Given the description of an element on the screen output the (x, y) to click on. 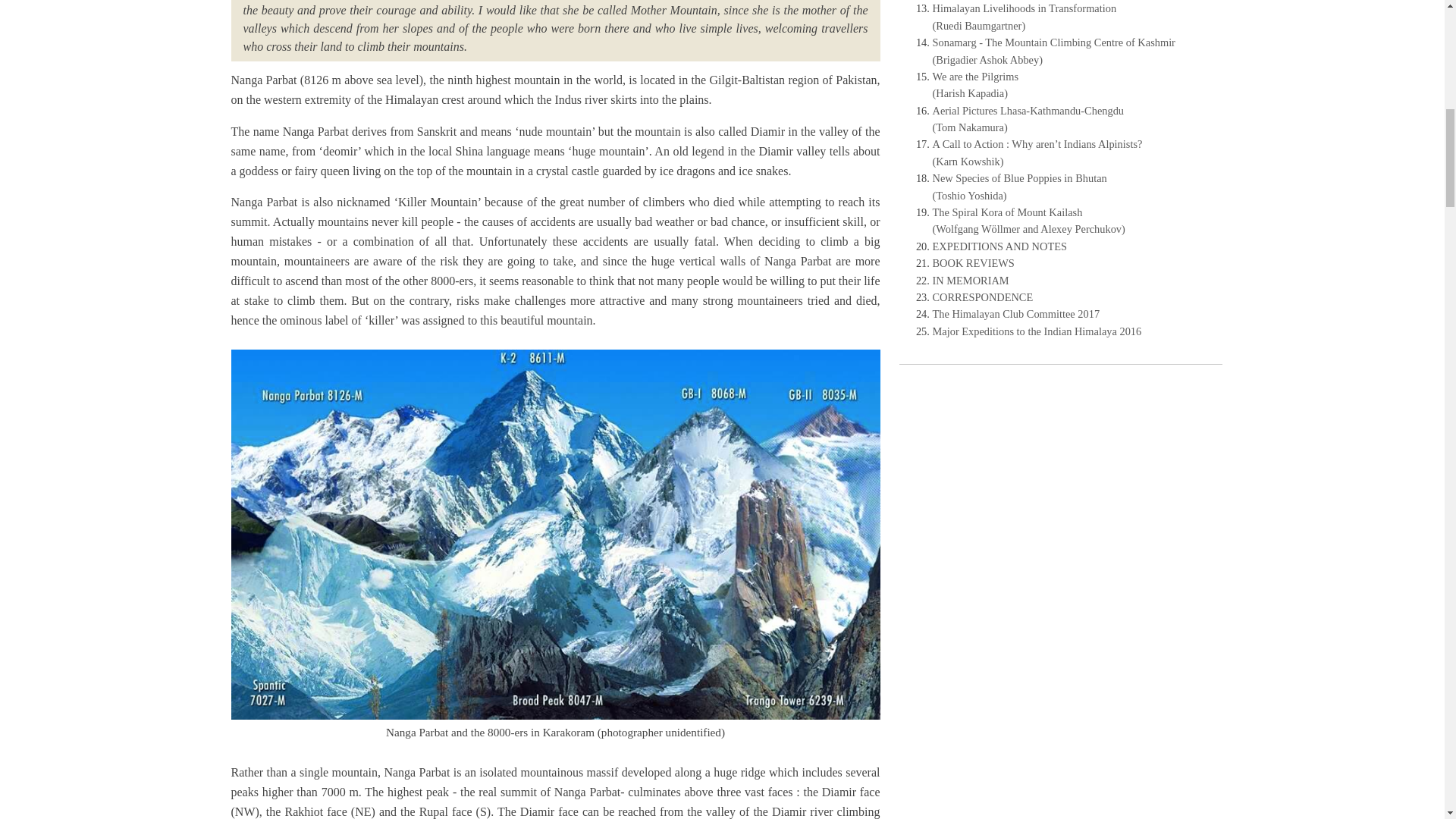
EXPEDITIONS AND NOTES (1000, 246)
Major Expeditions to the Indian Himalaya 2016 (1037, 331)
CORRESPONDENCE (983, 297)
IN MEMORIAM (971, 280)
BOOK REVIEWS (973, 263)
The Himalayan Club Committee 2017 (1016, 313)
